Given the description of an element on the screen output the (x, y) to click on. 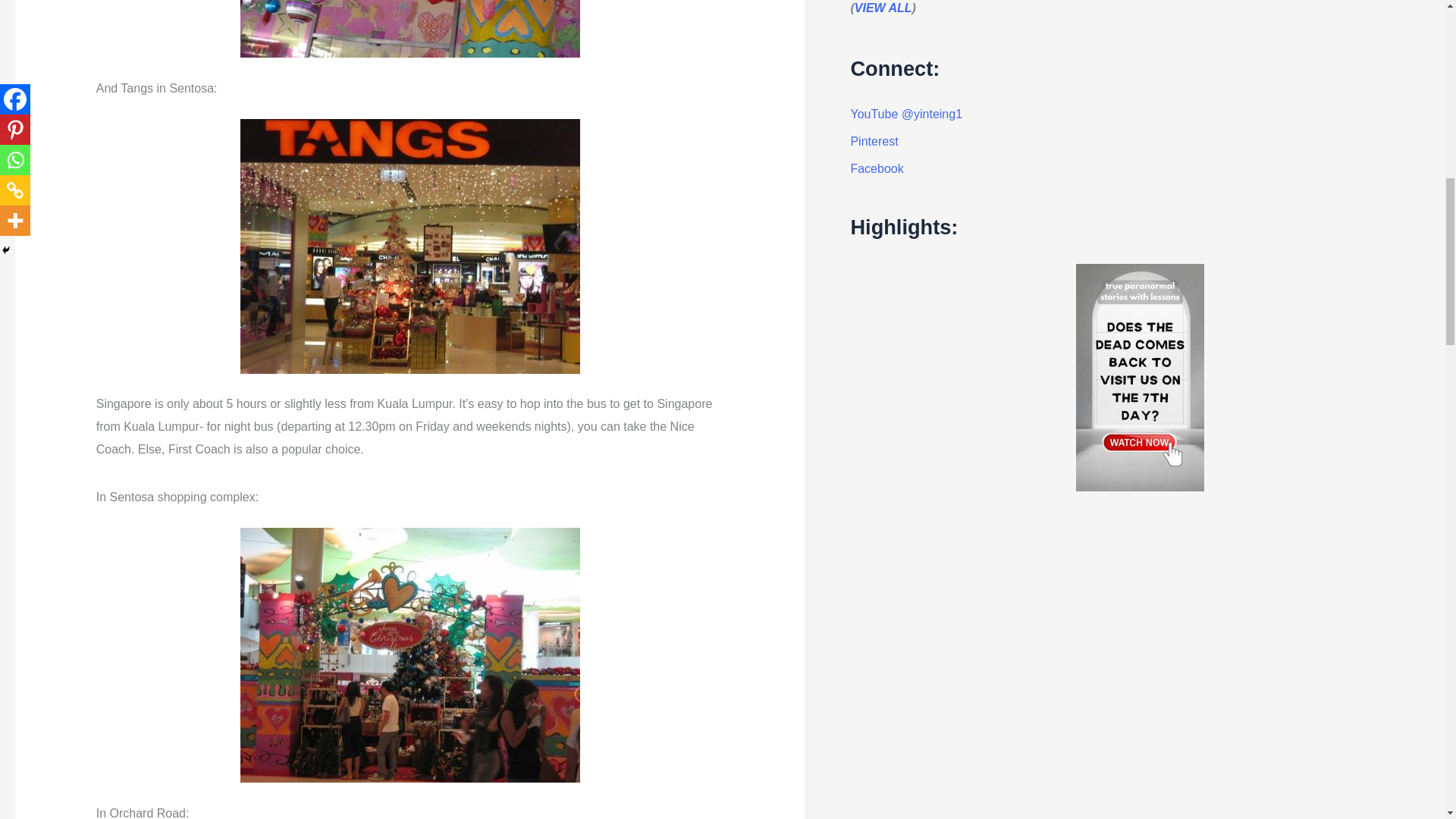
XmasSporeSentosa (409, 654)
XmasSporeTangs1 (409, 28)
XmasSporeTangsSentosa (409, 245)
